Given the description of an element on the screen output the (x, y) to click on. 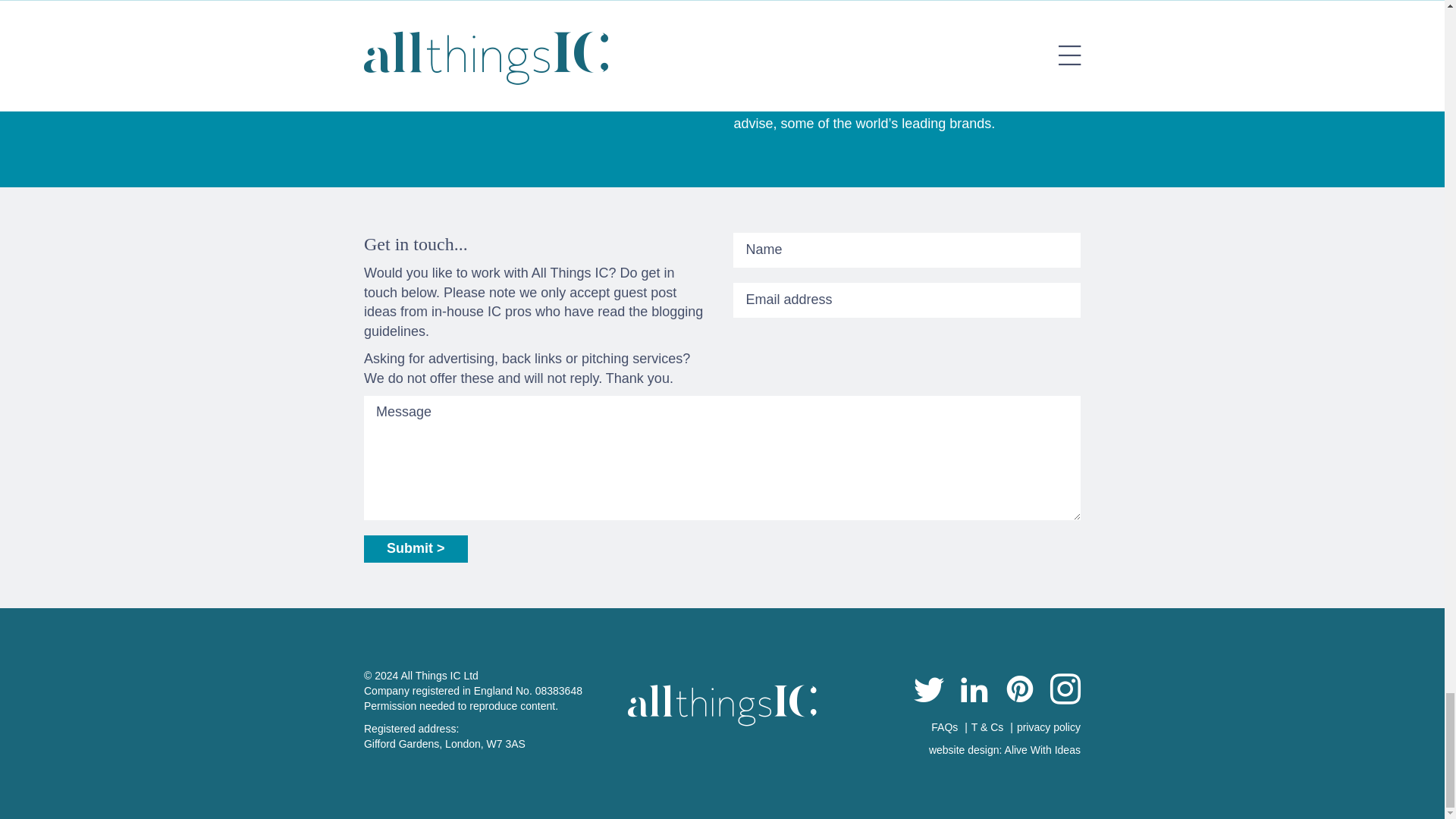
All Things IC on Instagram (1064, 691)
All Things IC on Twitter (928, 691)
All Things IC on Linkedin (974, 691)
All Things IC on Pinterest (1019, 691)
